Given the description of an element on the screen output the (x, y) to click on. 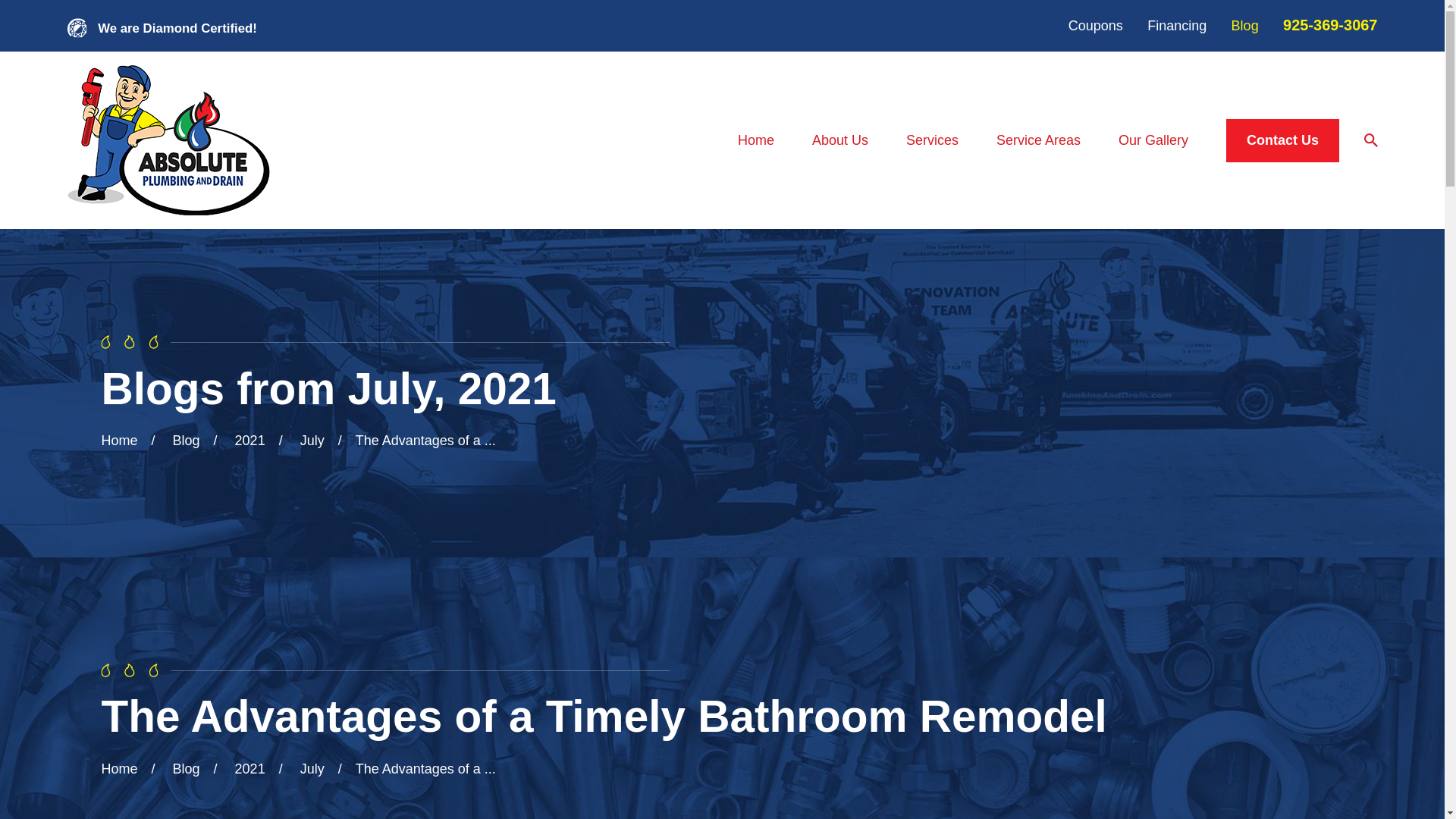
Blog (1245, 25)
Go Home (118, 768)
Home (167, 140)
Coupons (1095, 25)
Go Home (118, 440)
Services (931, 140)
Financing (1177, 25)
925-369-3067 (1329, 24)
About Us (839, 140)
